Given the description of an element on the screen output the (x, y) to click on. 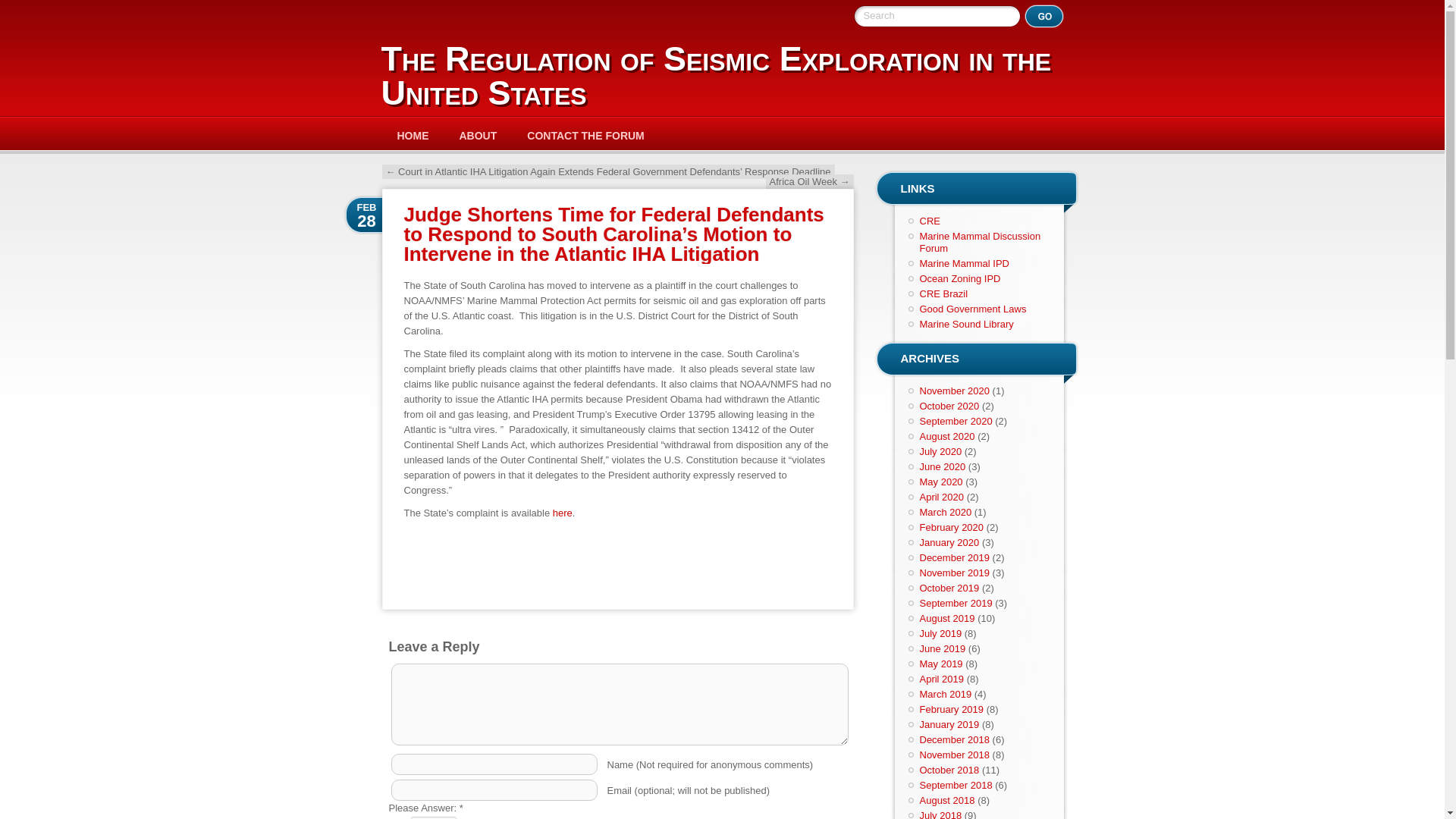
June 2019 (941, 648)
January 2020 (948, 542)
July 2020 (939, 451)
ABOUT (478, 135)
July 2019 (939, 633)
Marine Mammal IPD (963, 263)
January 2019 (948, 724)
November 2020 (954, 390)
August 2020 (946, 436)
April 2019 (940, 678)
April 2020 (940, 496)
Marine Mammal Discussion Forum (979, 241)
May 2020 (940, 481)
CRE Brazil (943, 293)
October 2020 (948, 405)
